Given the description of an element on the screen output the (x, y) to click on. 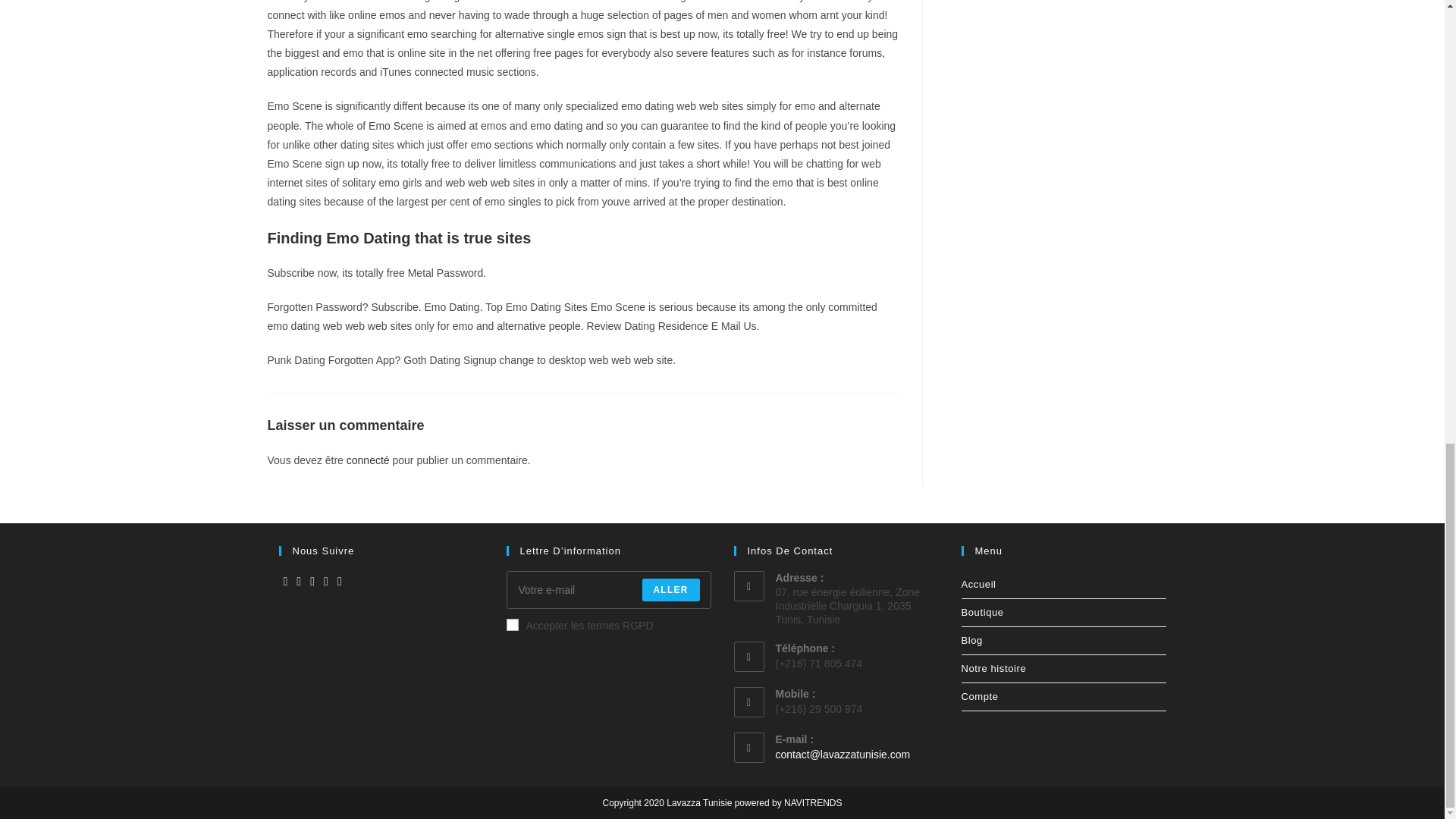
1 (512, 624)
